Given the description of an element on the screen output the (x, y) to click on. 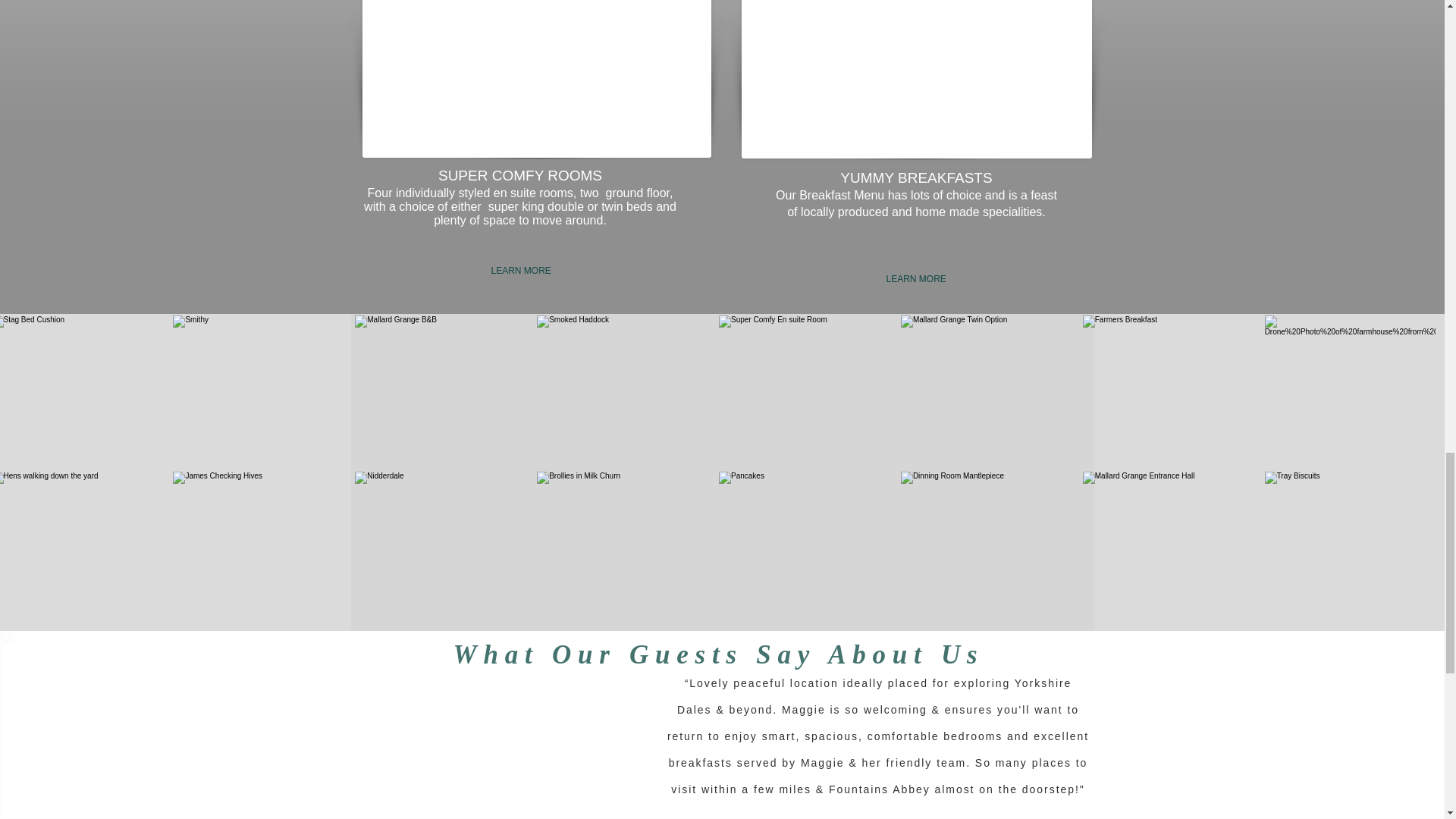
LEARN MORE (914, 279)
LEARN MORE (525, 270)
